Given the description of an element on the screen output the (x, y) to click on. 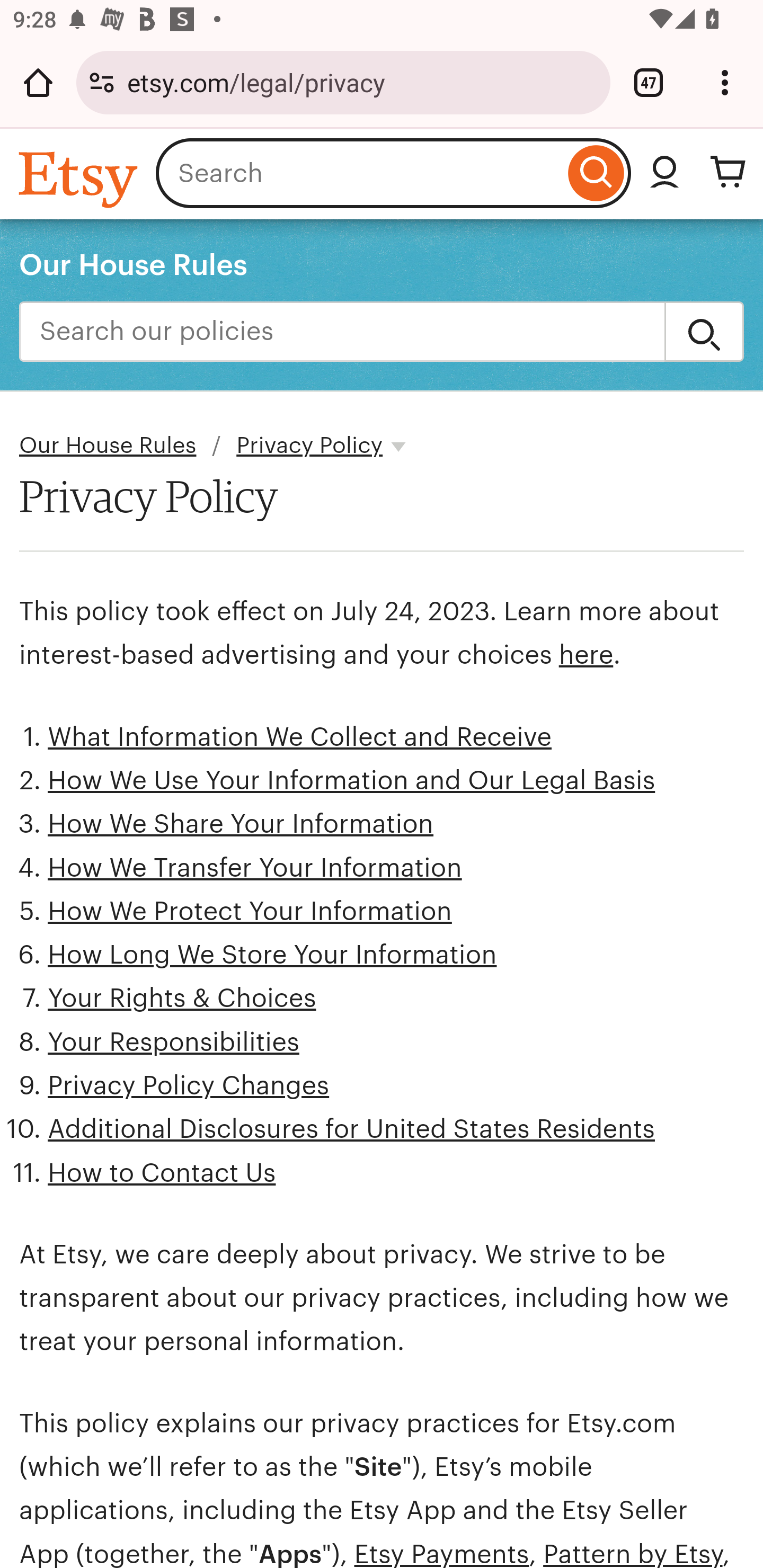
Open the home page (38, 82)
Connection is secure (101, 82)
Switch or close tabs (648, 82)
Customize and control Google Chrome (724, 82)
etsy.com/legal/privacy (362, 82)
Search (595, 172)
Cart (727, 172)
Sign in (664, 172)
Etsy (80, 178)
Our House Rules (133, 263)
Search (703, 331)
Our House Rules (107, 445)
here (585, 655)
What Information We Collect and Receive (300, 736)
How We Use Your Information and Our Legal Basis (351, 781)
How We Share Your Information (240, 823)
How We Transfer Your Information (254, 867)
How We Protect Your Information (250, 911)
How Long We Store Your Information (272, 954)
Your Rights & Choices (181, 998)
Your Responsibilities (173, 1041)
Privacy Policy Changes (188, 1085)
Additional Disclosures for United States Residents (350, 1128)
How to Contact Us (161, 1172)
Etsy Payments (440, 1553)
Pattern by Etsy (632, 1553)
